Given the description of an element on the screen output the (x, y) to click on. 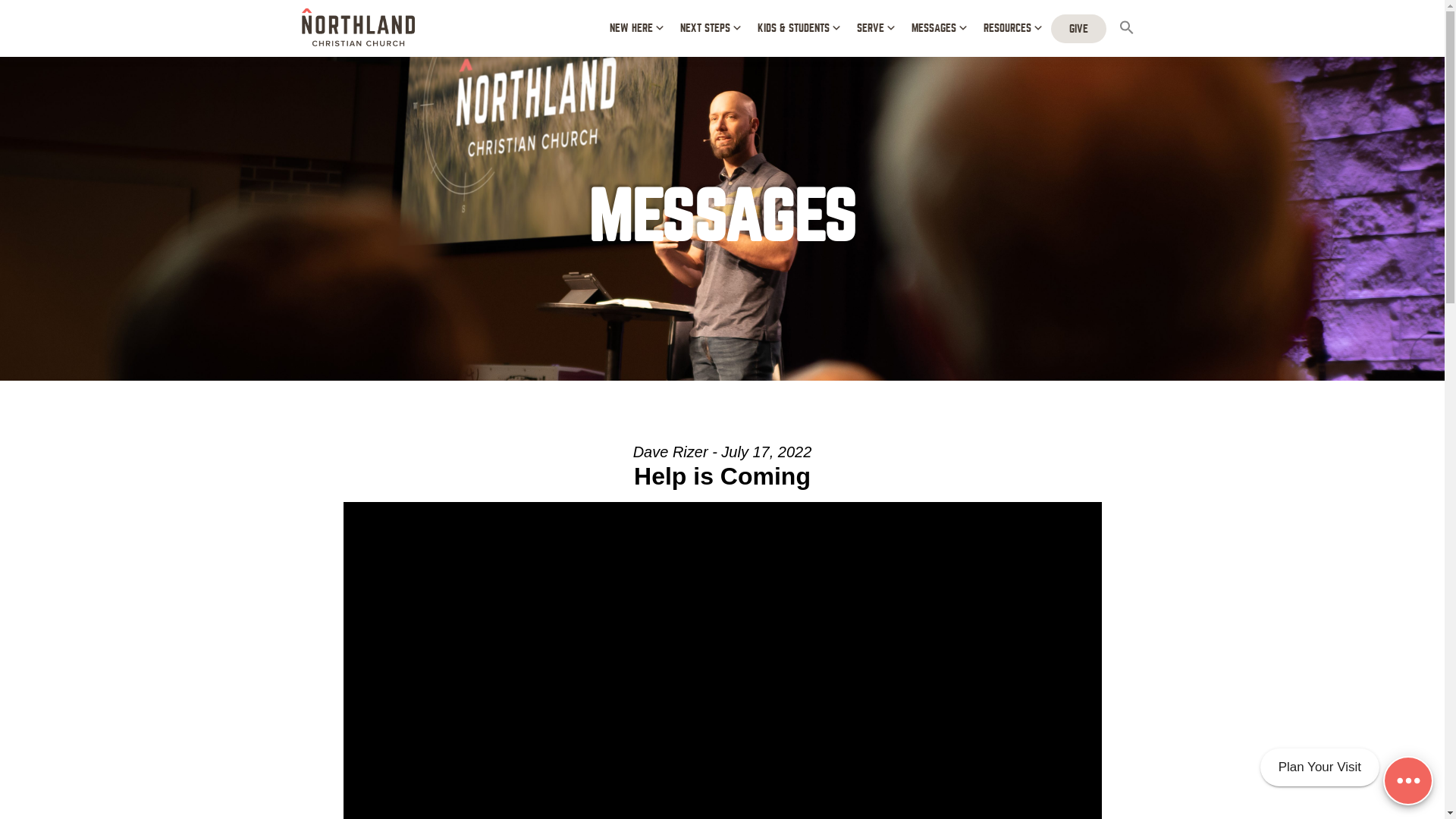
NEW HERE Element type: text (635, 28)
RESOURCES Element type: text (1010, 28)
MESSAGES Element type: text (937, 28)
KIDS & STUDENTS Element type: text (796, 28)
SERVE Element type: text (874, 28)
NEXT STEPS Element type: text (708, 28)
GIVE Element type: text (1078, 27)
